Given the description of an element on the screen output the (x, y) to click on. 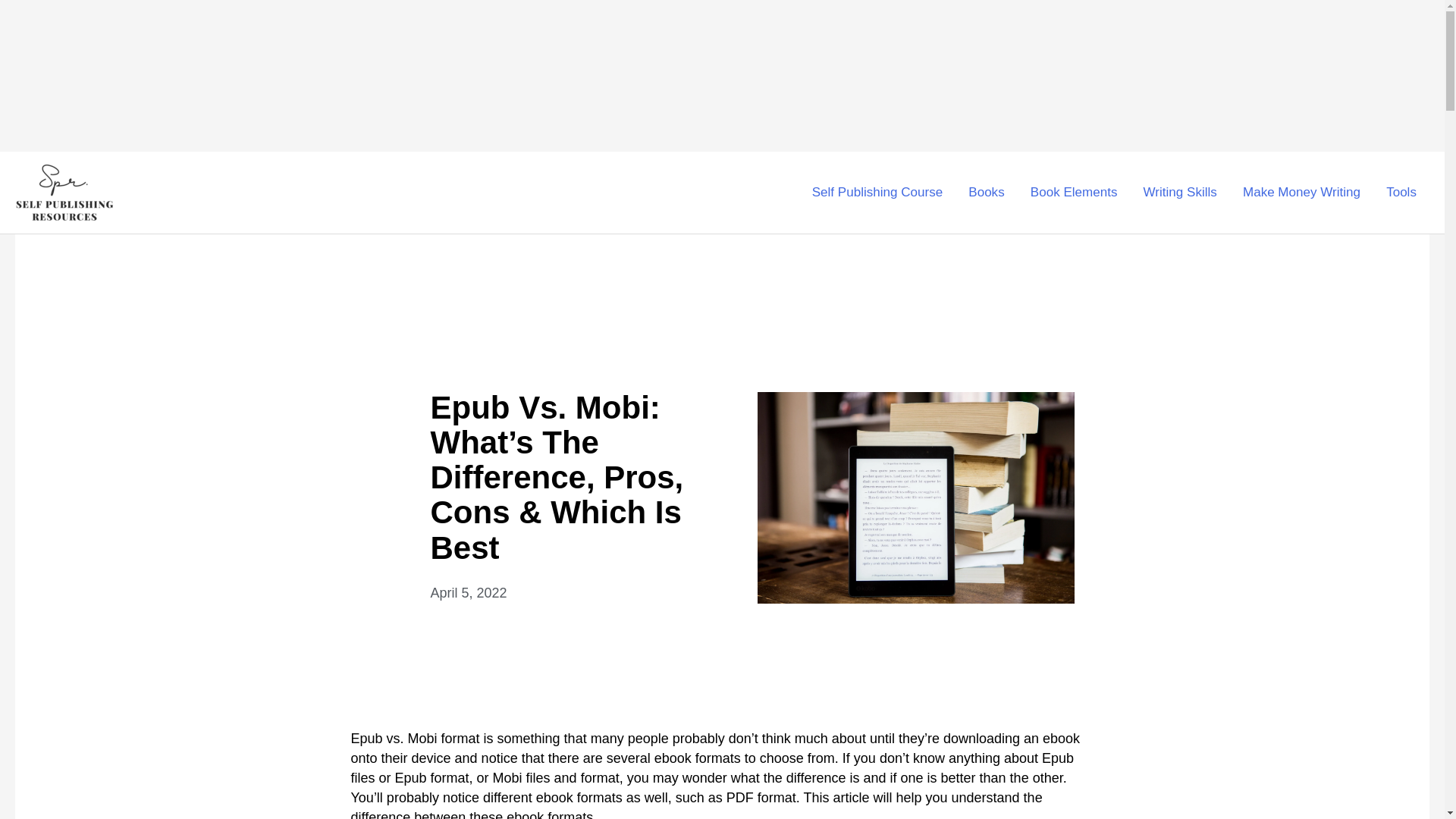
Writing Skills (1180, 192)
Tools (1401, 192)
Book Elements (1074, 192)
Self Publishing Course (877, 192)
Books (986, 192)
Make Money Writing (1301, 192)
